Given the description of an element on the screen output the (x, y) to click on. 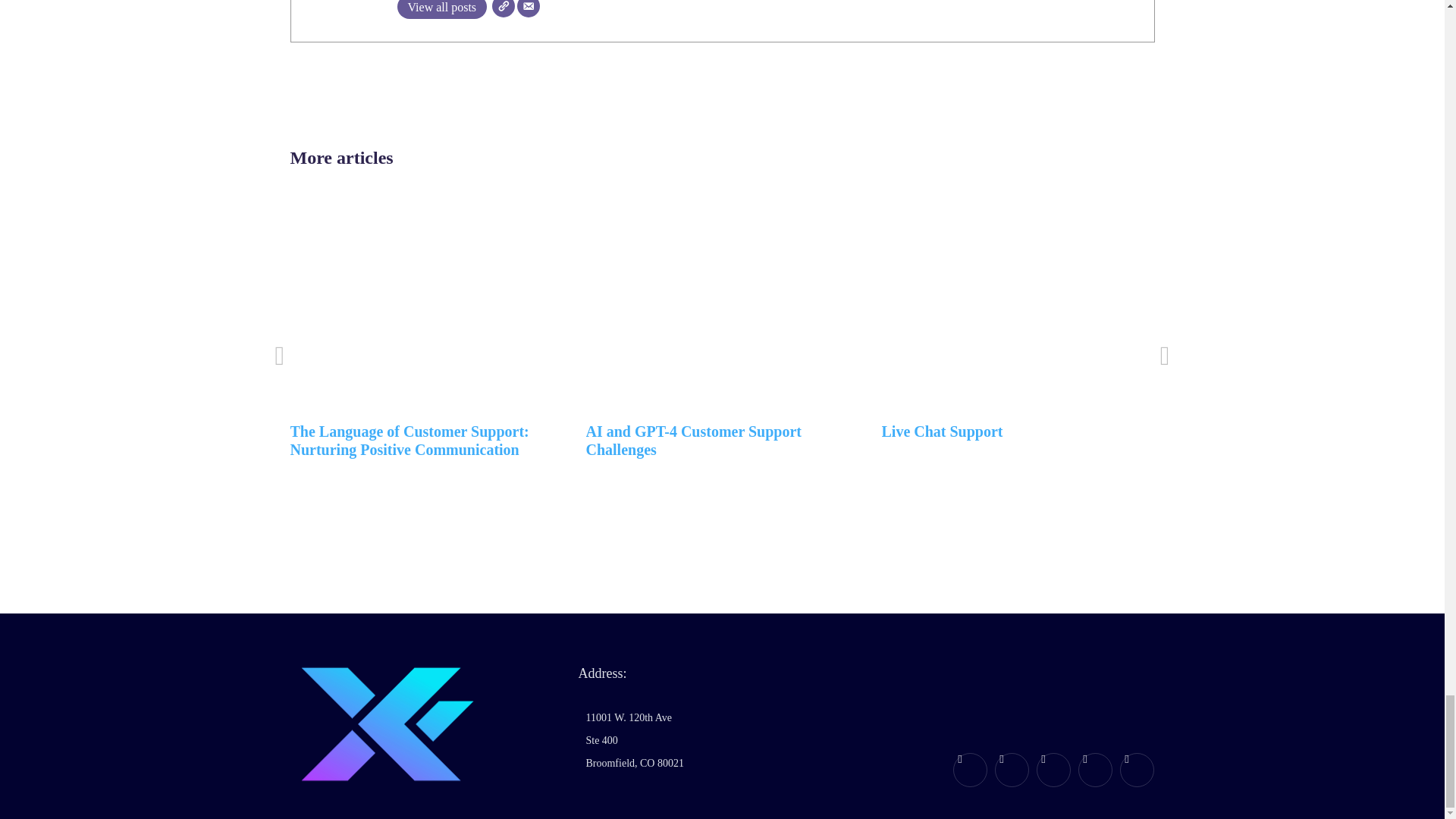
View all posts (442, 9)
View all posts (442, 9)
